Given the description of an element on the screen output the (x, y) to click on. 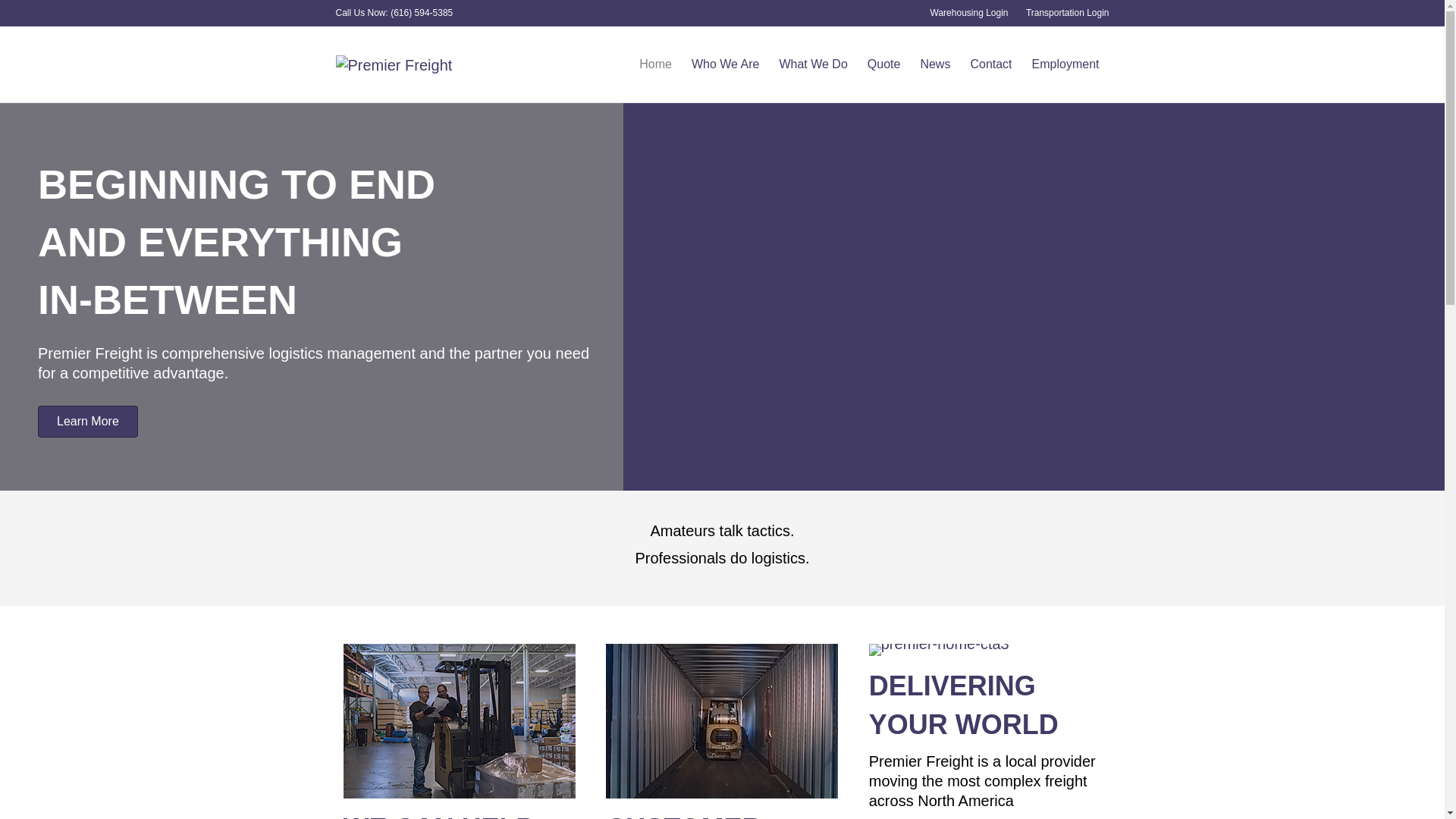
Home (654, 64)
premier-home-cta2f (721, 720)
DELIVERING YOUR WORLD (963, 704)
Warehousing Login (969, 13)
premier-home-cta1f (458, 720)
What We Do (812, 64)
Transportation Login (1066, 13)
Who We Are (725, 64)
News (934, 64)
Contact (990, 64)
Employment (1065, 64)
CUSTOMER CENTRIC (683, 816)
Learn More (87, 421)
Quote (884, 64)
premier-home-cta3 (939, 649)
